Given the description of an element on the screen output the (x, y) to click on. 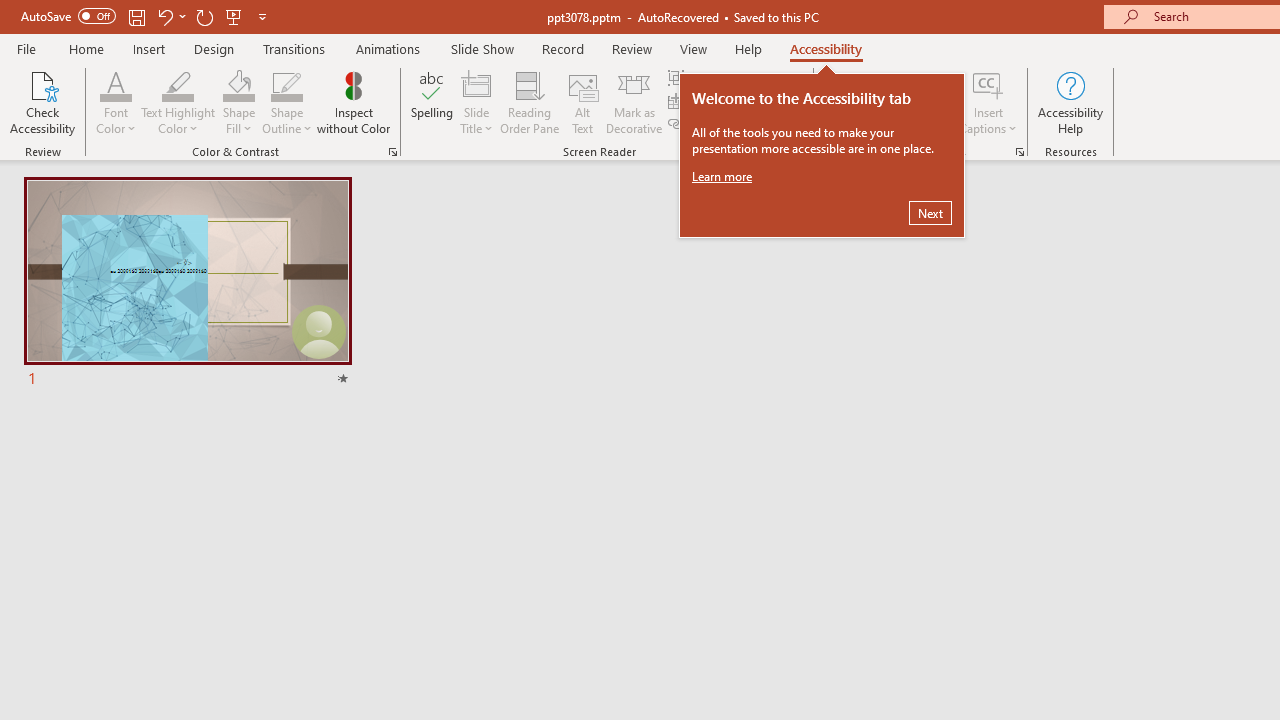
Shape Outline (286, 102)
Group (701, 78)
Inspect without Color (353, 102)
Slide Title (476, 102)
Shape Fill (238, 102)
